Given the description of an element on the screen output the (x, y) to click on. 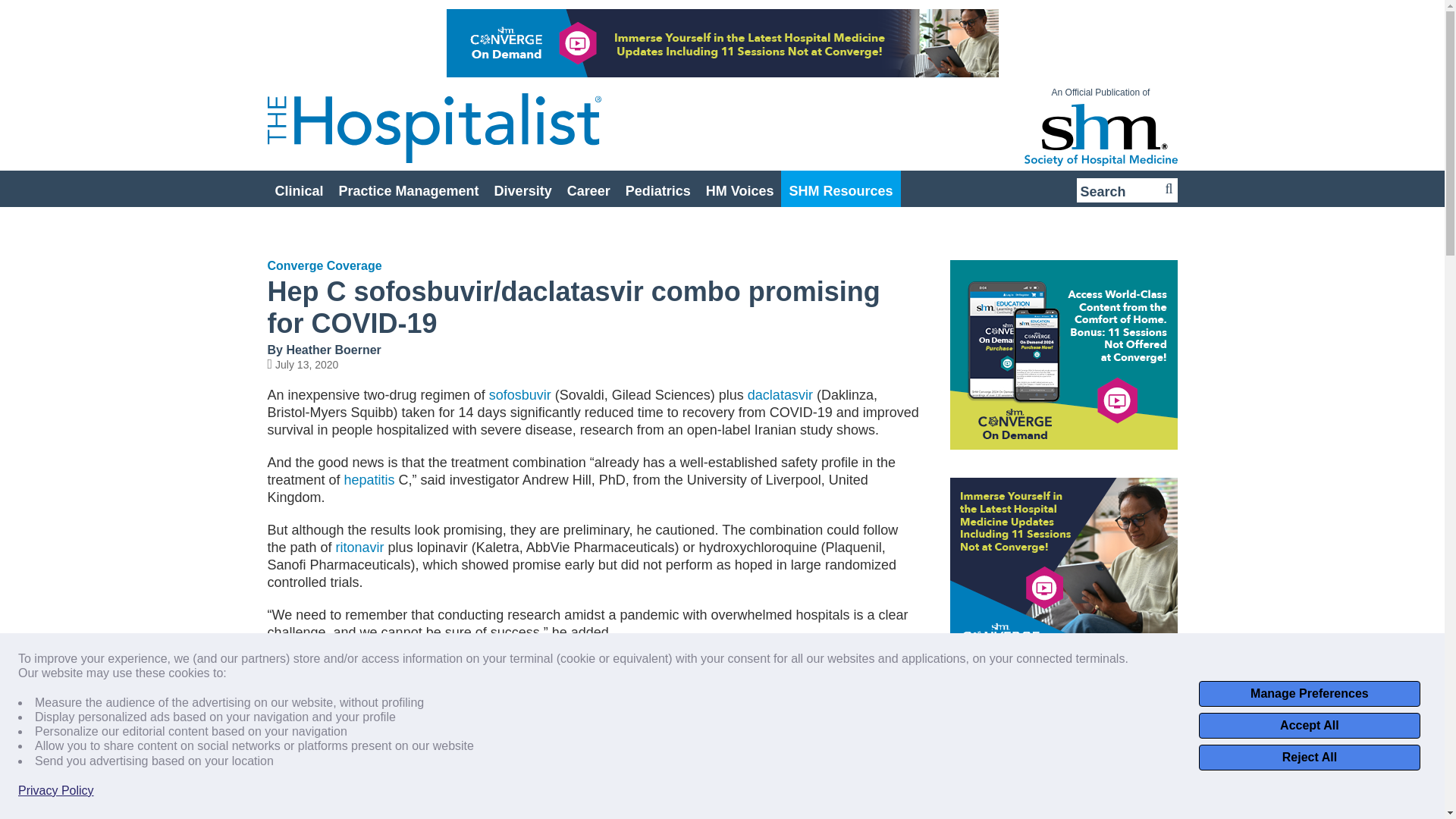
Manage Preferences (1309, 693)
Reject All (1309, 757)
Accept All (1309, 725)
Privacy Policy (55, 789)
